Given the description of an element on the screen output the (x, y) to click on. 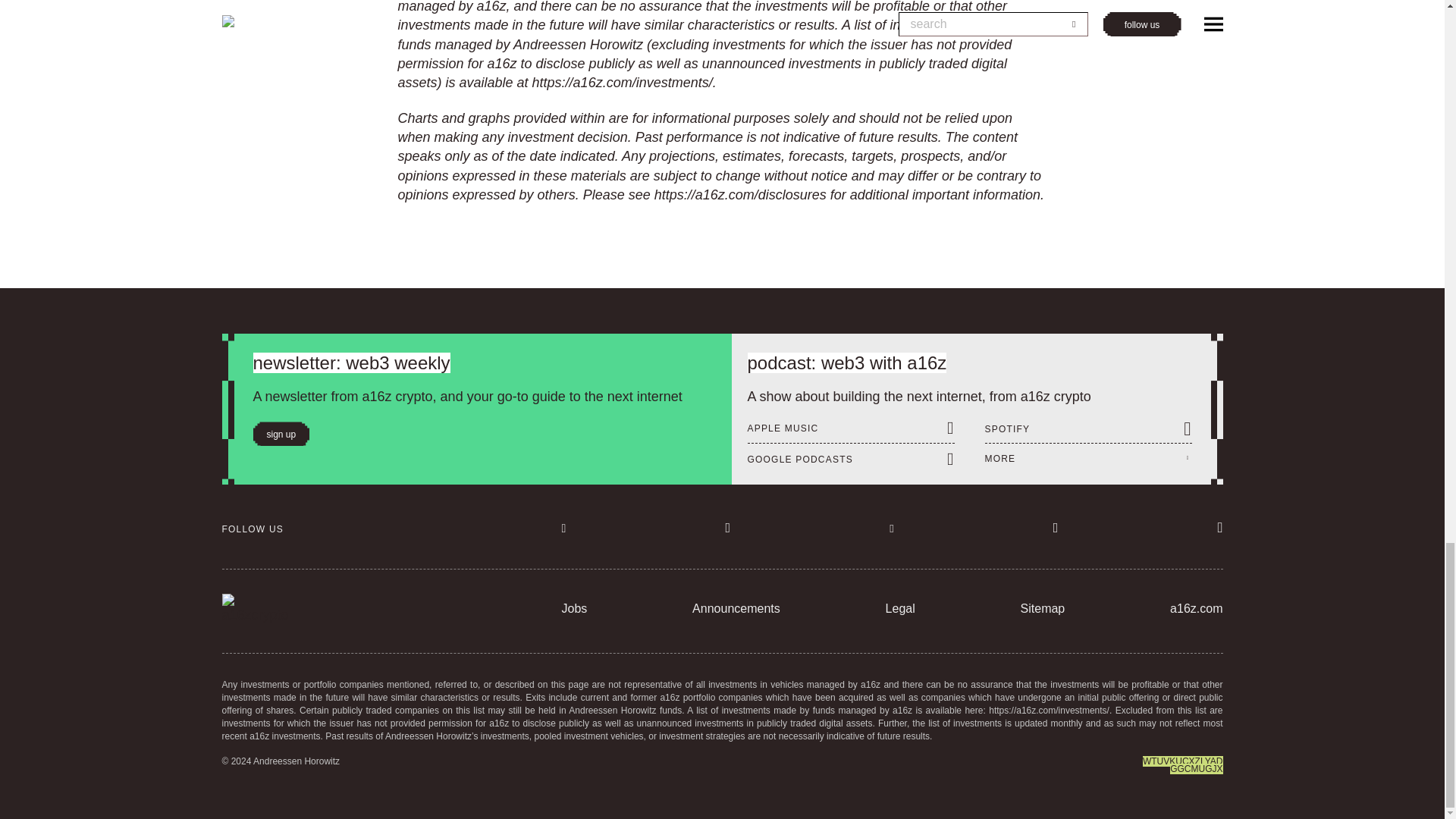
APPLE MUSIC (851, 426)
SPOTIFY (1087, 427)
sign up (281, 433)
GOOGLE PODCASTS (851, 457)
